Given the description of an element on the screen output the (x, y) to click on. 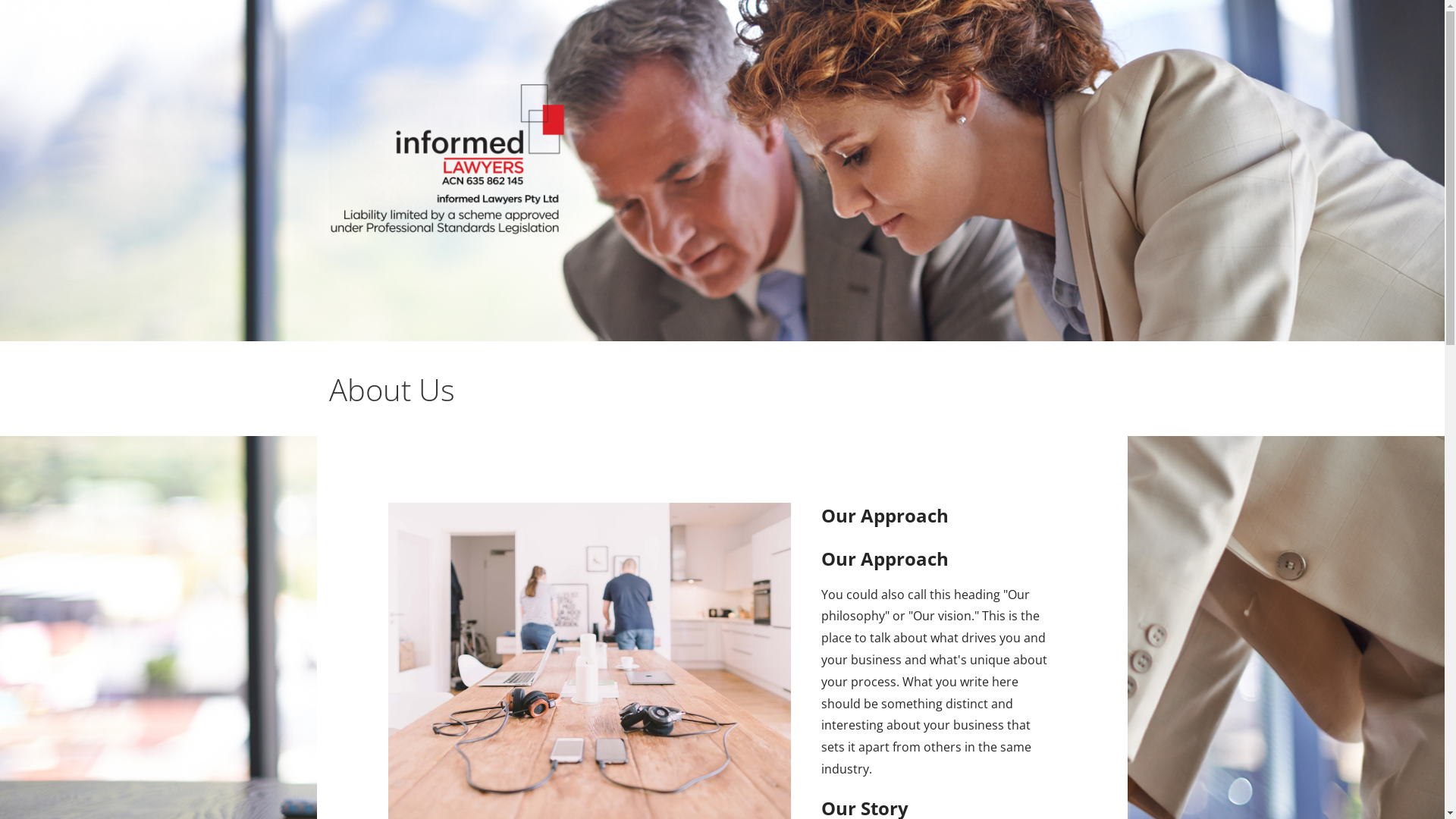
informed Lawyers Pty Ltd Element type: text (475, 259)
